Given the description of an element on the screen output the (x, y) to click on. 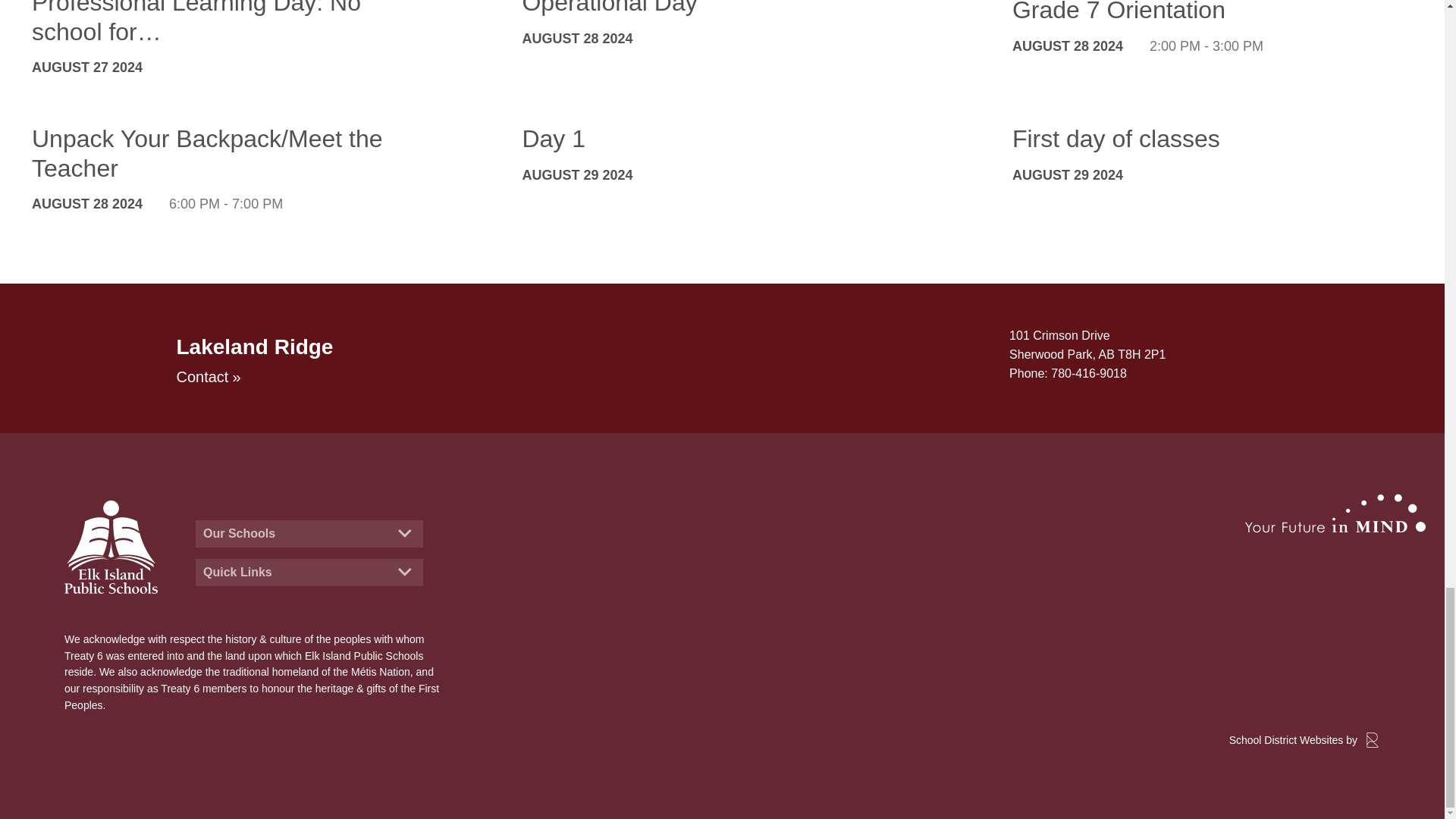
Grade 7 Orientation (1200, 12)
Operational Day (710, 8)
Professional Learning Day: No school for students (220, 22)
